Given the description of an element on the screen output the (x, y) to click on. 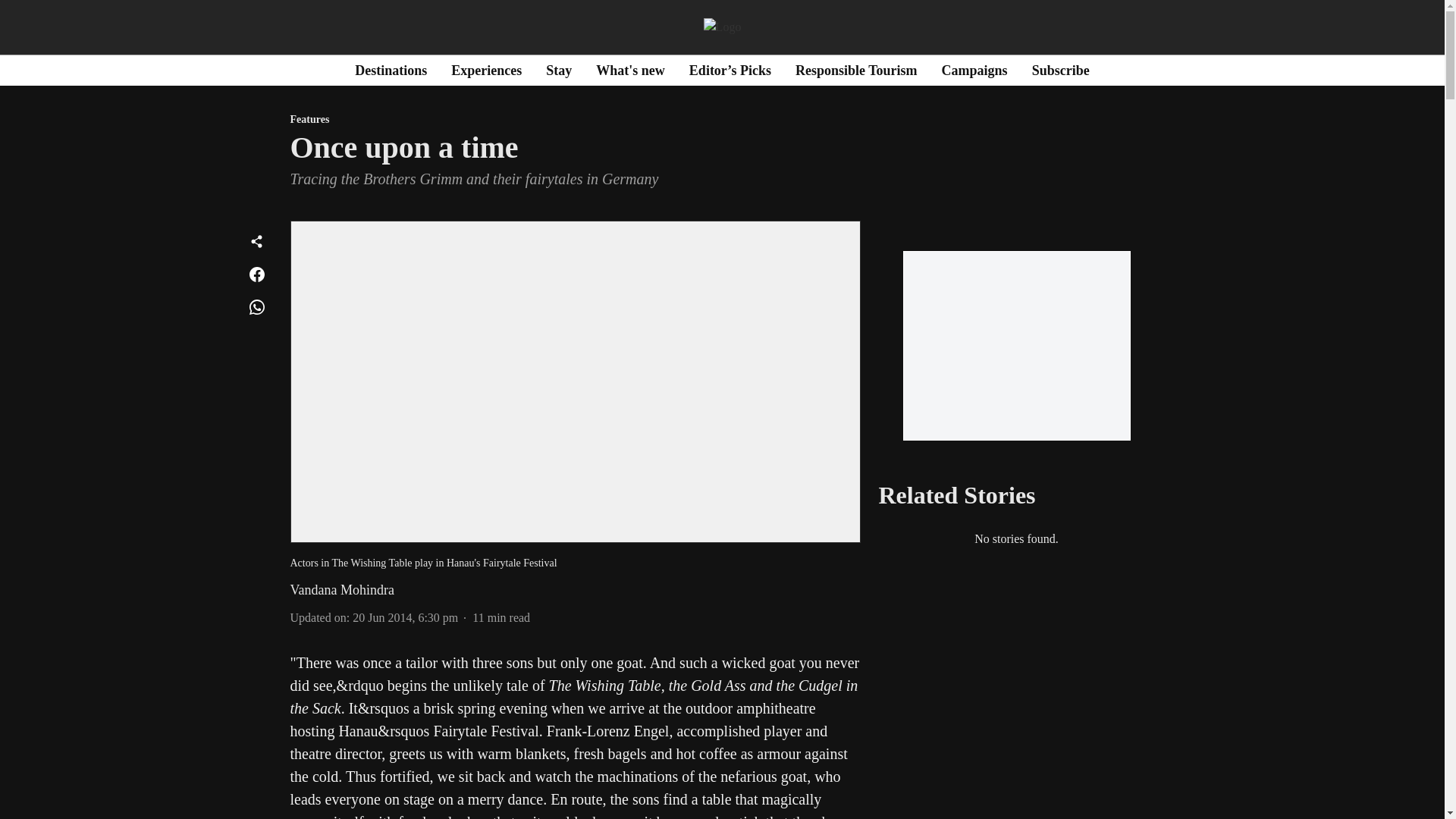
Features (574, 119)
What's new (630, 70)
Vandana Mohindra (341, 589)
Destinations (390, 70)
Stay (559, 70)
Subscribe (1060, 70)
Responsible Tourism (855, 70)
Experiences (486, 70)
